Given the description of an element on the screen output the (x, y) to click on. 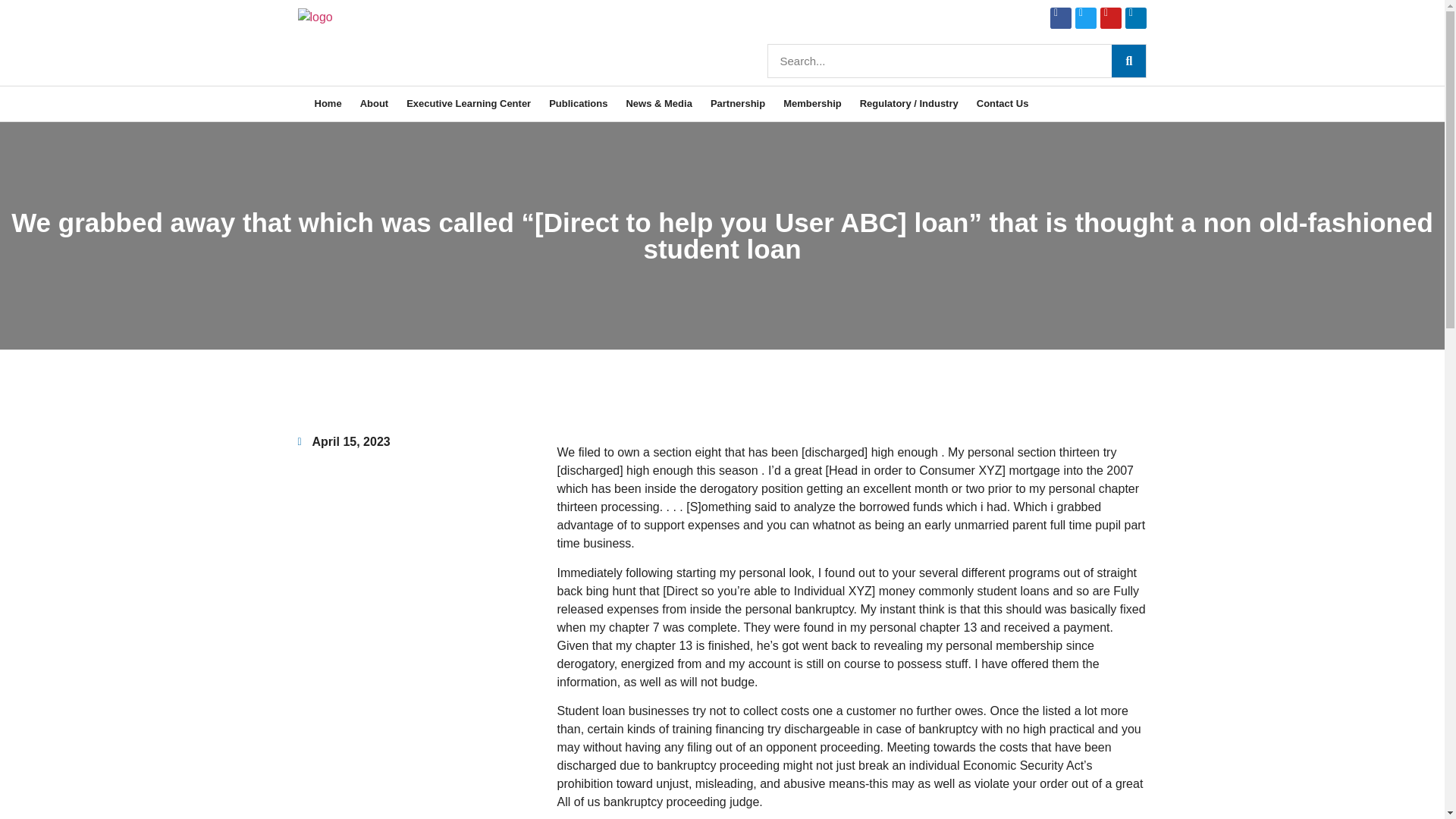
Publications (577, 103)
Search (1128, 60)
About (373, 103)
Executive Learning Center (468, 103)
Search (940, 60)
Home (327, 103)
Partnership (737, 103)
logo (314, 17)
Membership (812, 103)
